Given the description of an element on the screen output the (x, y) to click on. 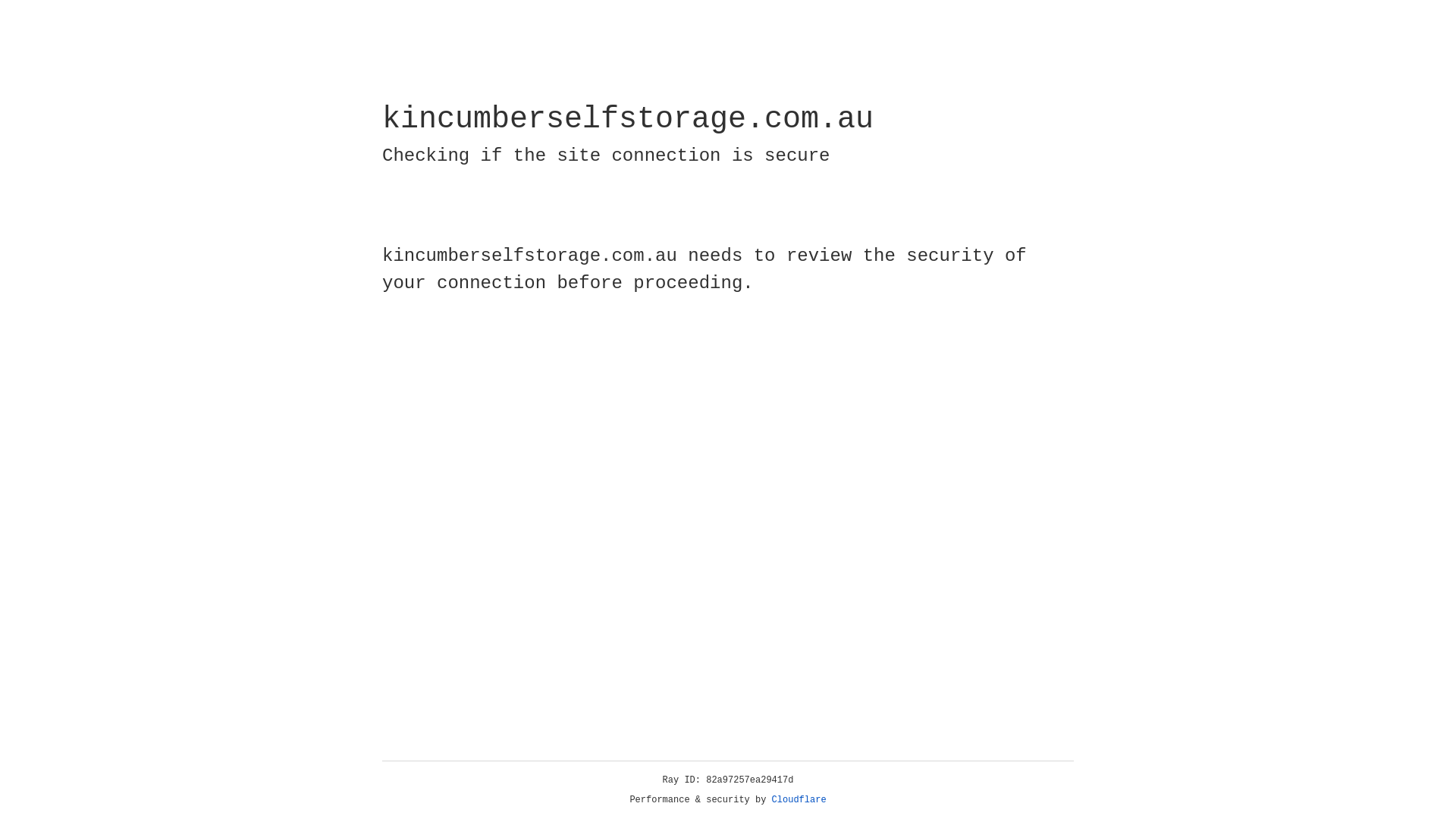
Cloudflare Element type: text (798, 799)
